Given the description of an element on the screen output the (x, y) to click on. 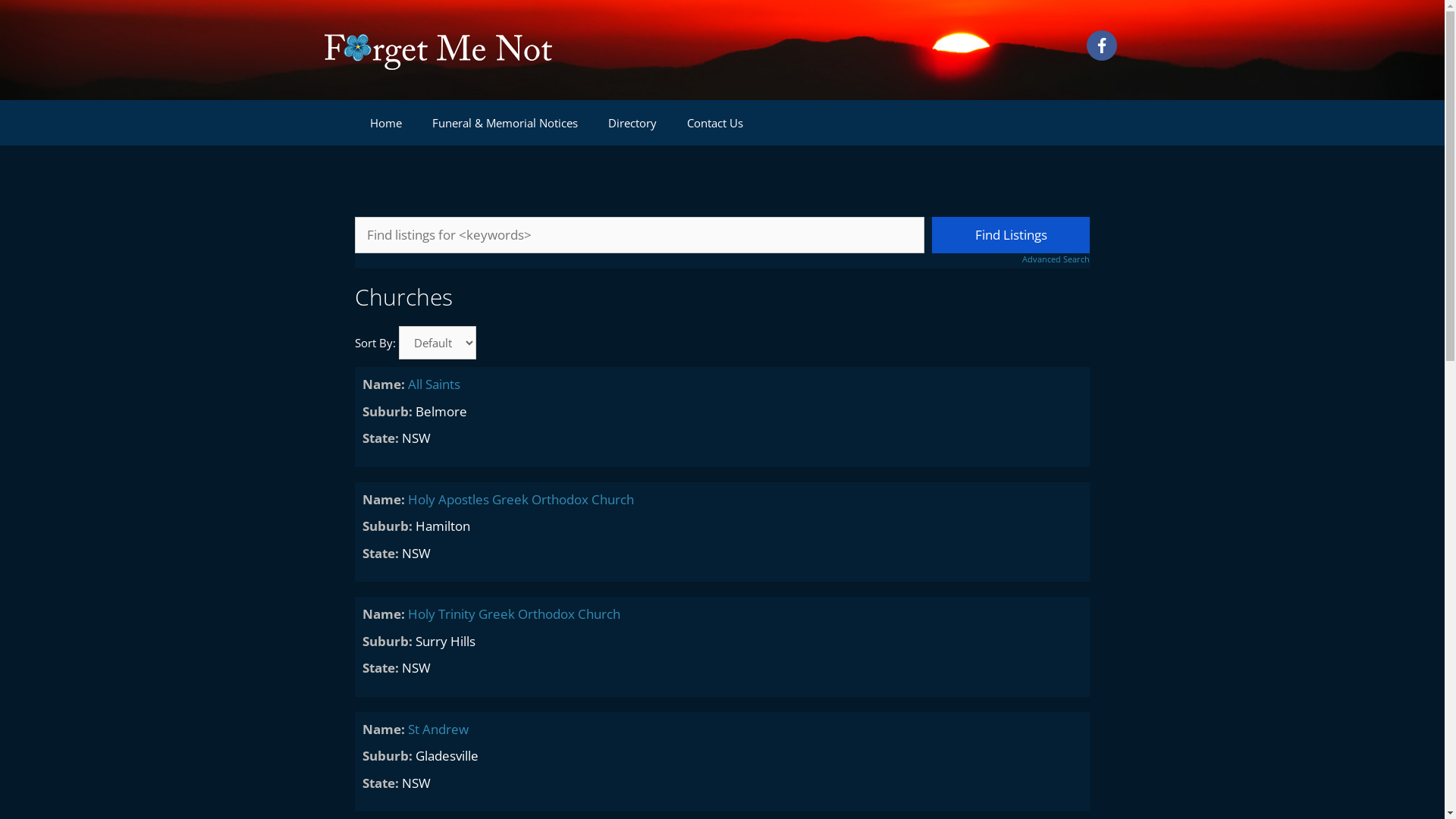
Forget-me-not.com.au Element type: hover (438, 48)
St Andrew Element type: text (437, 728)
Find Listings Element type: text (1010, 234)
Holy Trinity Greek Orthodox Church Element type: text (513, 613)
Directory Element type: text (632, 122)
Holy Apostles Greek Orthodox Church Element type: text (520, 498)
Contact Us Element type: text (714, 122)
Skip to content Element type: text (0, 0)
Funeral & Memorial Notices Element type: text (505, 122)
Home Element type: text (385, 122)
All Saints Element type: text (433, 383)
Advanced Search Element type: text (1010, 259)
Quick search keywords Element type: hover (639, 234)
facebook Element type: text (1100, 45)
Forget-me-not.com.au Element type: hover (438, 49)
